Given the description of an element on the screen output the (x, y) to click on. 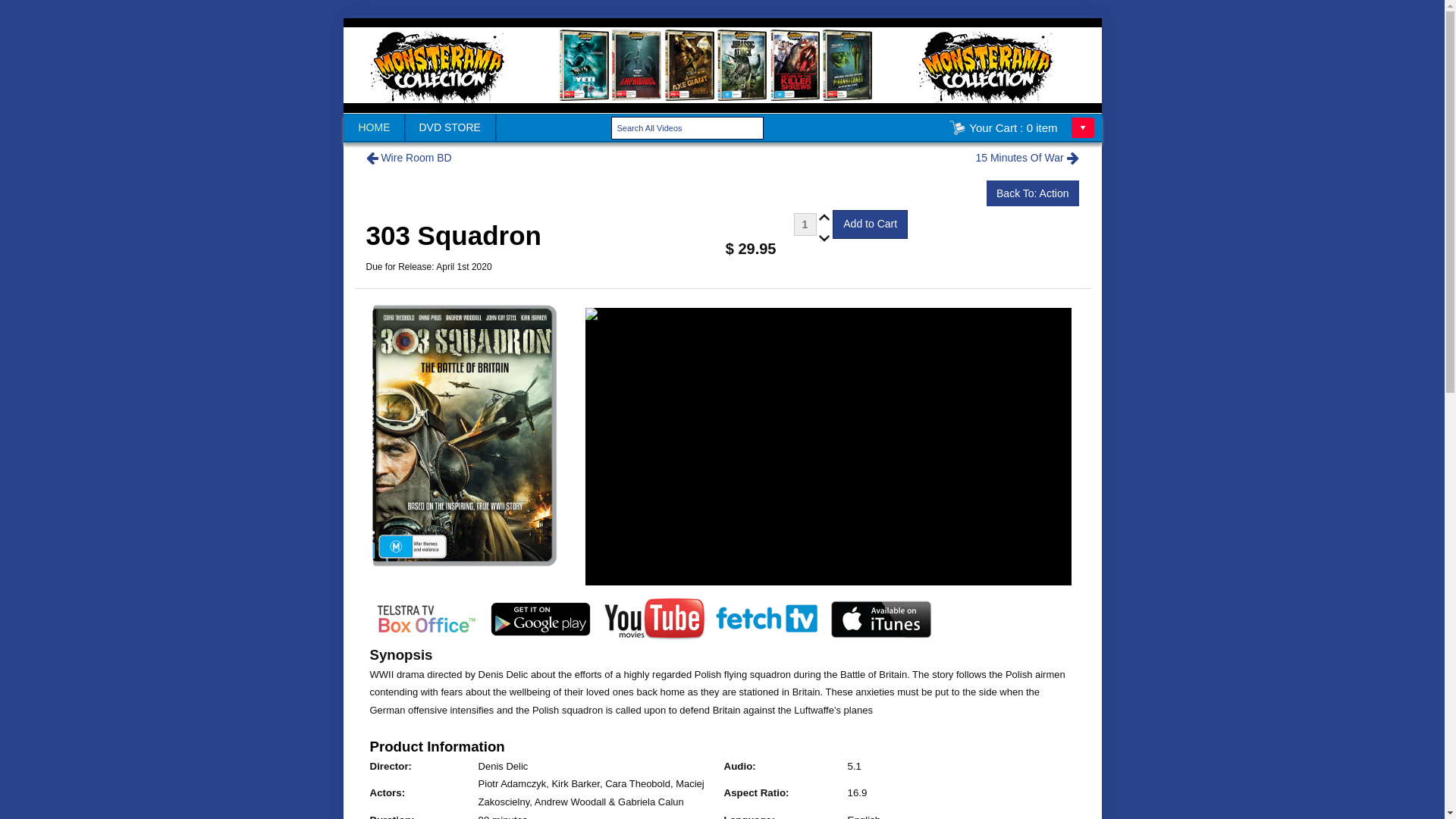
15 Minutes Of War Element type: text (1026, 157)
Add to Cart Element type: hover (869, 224)
Wire Room BD Element type: text (408, 157)
DVD STORE Element type: text (449, 127)
Add to Cart Element type: text (869, 224)
Back To: Action Element type: text (1032, 193)
1 Element type: text (804, 224)
HOME Element type: text (373, 127)
